Given the description of an element on the screen output the (x, y) to click on. 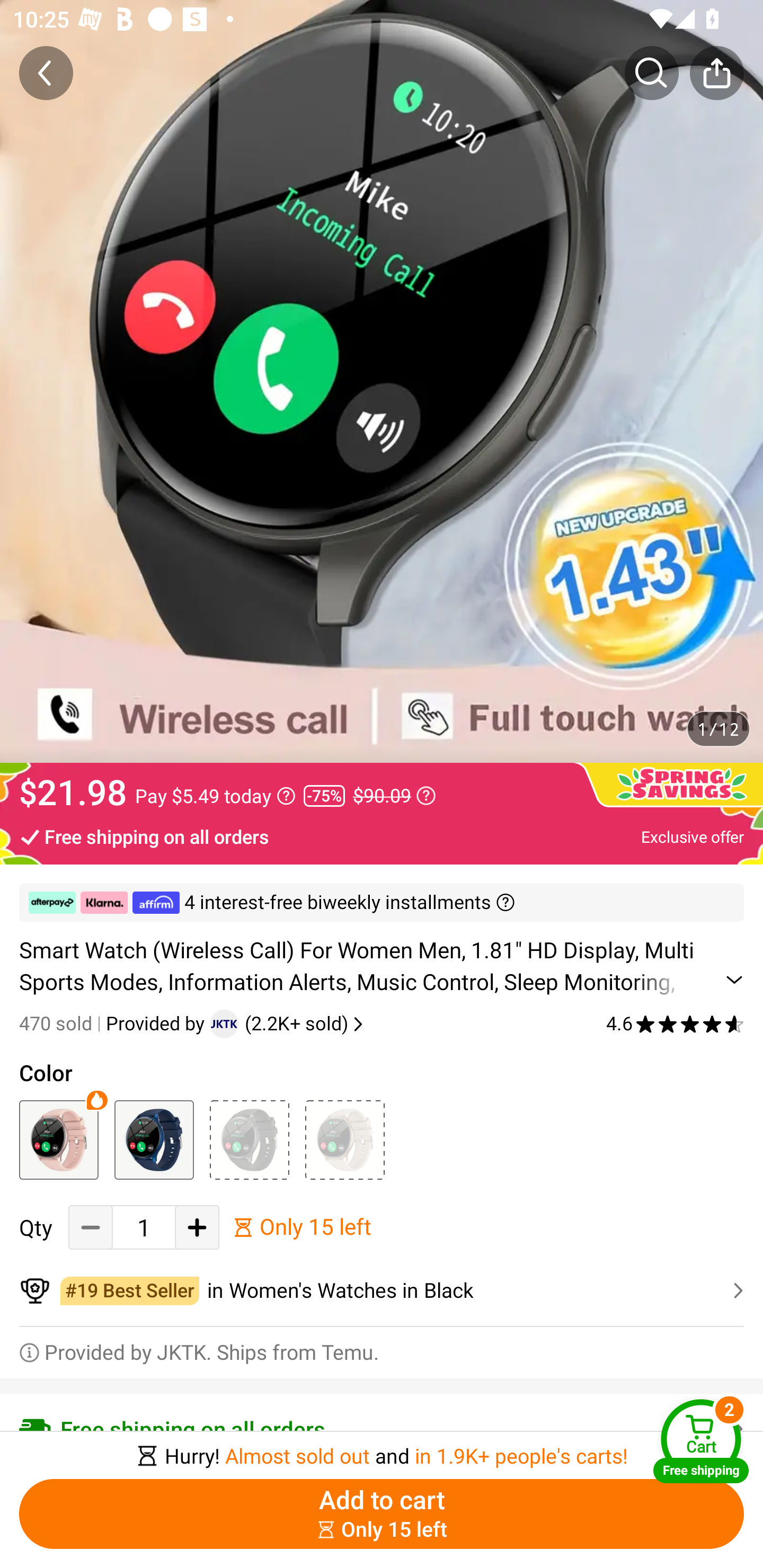
Back (46, 72)
Share (716, 72)
Pay $5.49 today   (215, 795)
Free shipping on all orders Exclusive offer (381, 836)
￼ ￼ ￼ 4 interest-free biweekly installments ￼ (381, 902)
4.6 (674, 1023)
pink   (58, 1139)
Blue (153, 1139)
Black (249, 1139)
Golden (344, 1139)
Decrease Quantity Button (90, 1227)
1 (143, 1227)
Add Quantity button (196, 1227)
￼￼in Women's Watches in Black (381, 1290)
Cart Free shipping Cart (701, 1440)
Add to cart ￼￼Only 15 left (381, 1513)
